Given the description of an element on the screen output the (x, y) to click on. 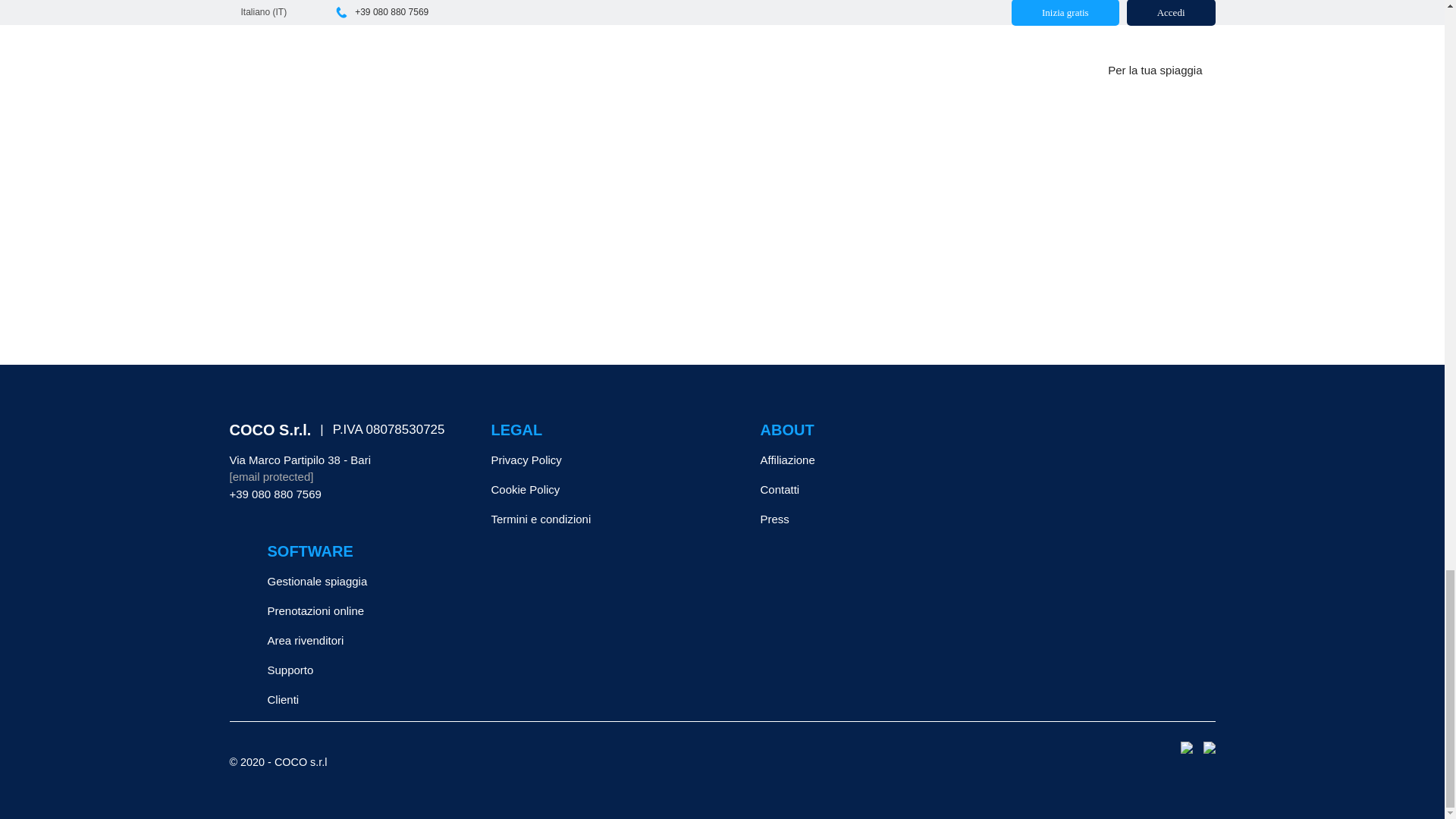
Privacy Policy (603, 460)
Termini e condizioni (603, 519)
Cookie Policy (603, 489)
